Given the description of an element on the screen output the (x, y) to click on. 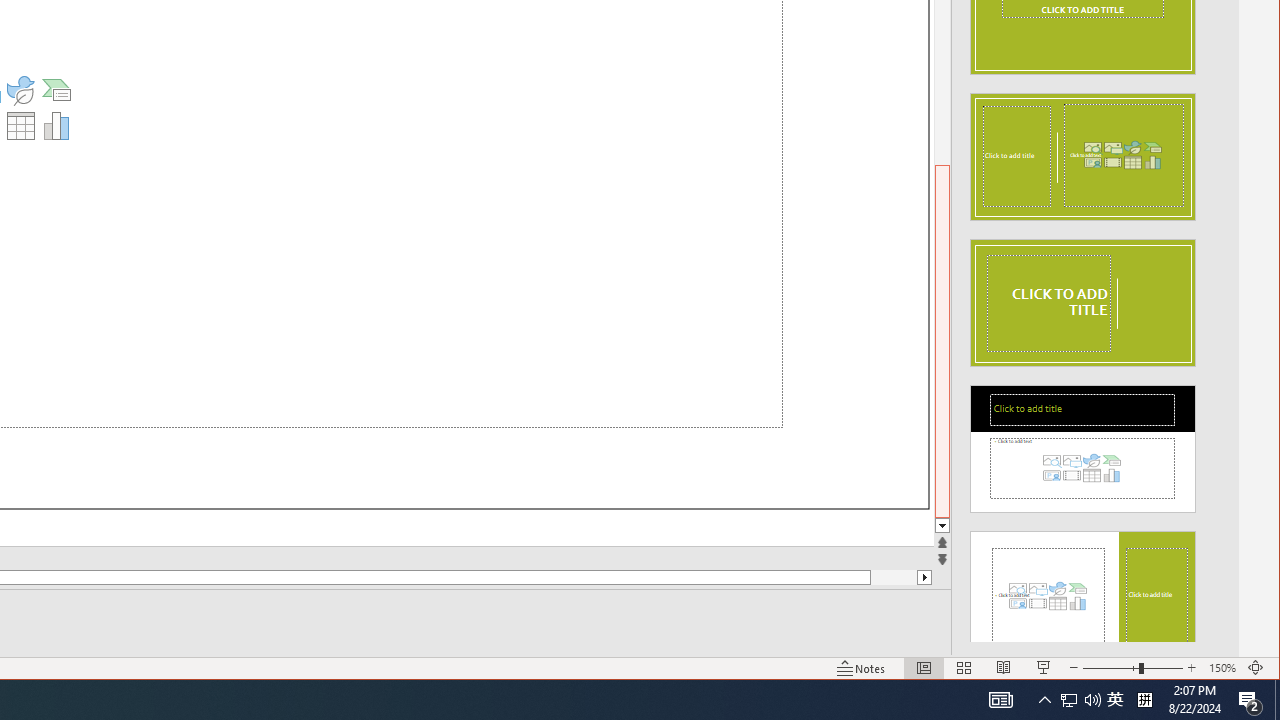
Design Idea (1082, 588)
Insert Table (21, 125)
